Given the description of an element on the screen output the (x, y) to click on. 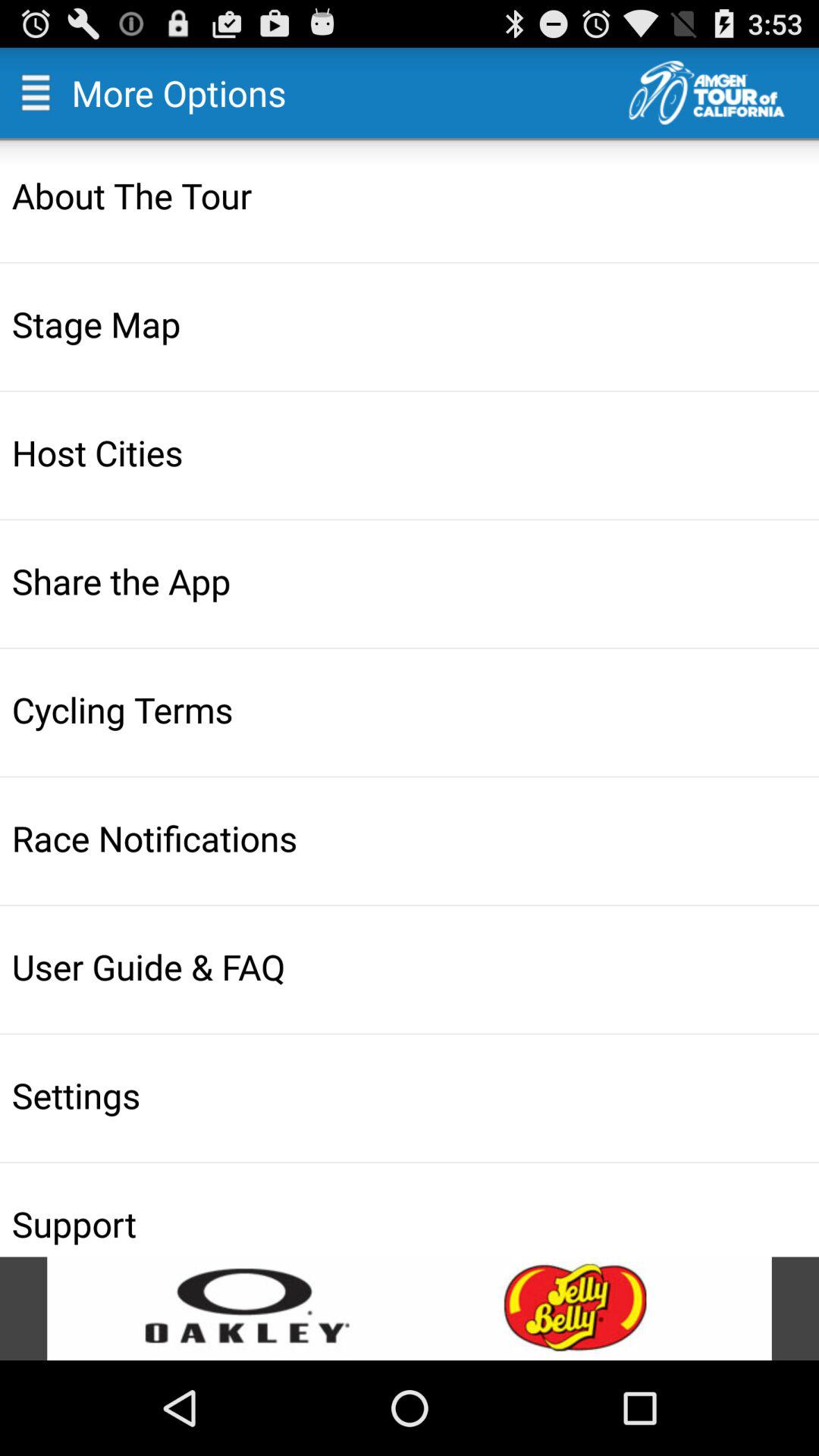
select settings (411, 1094)
